Given the description of an element on the screen output the (x, y) to click on. 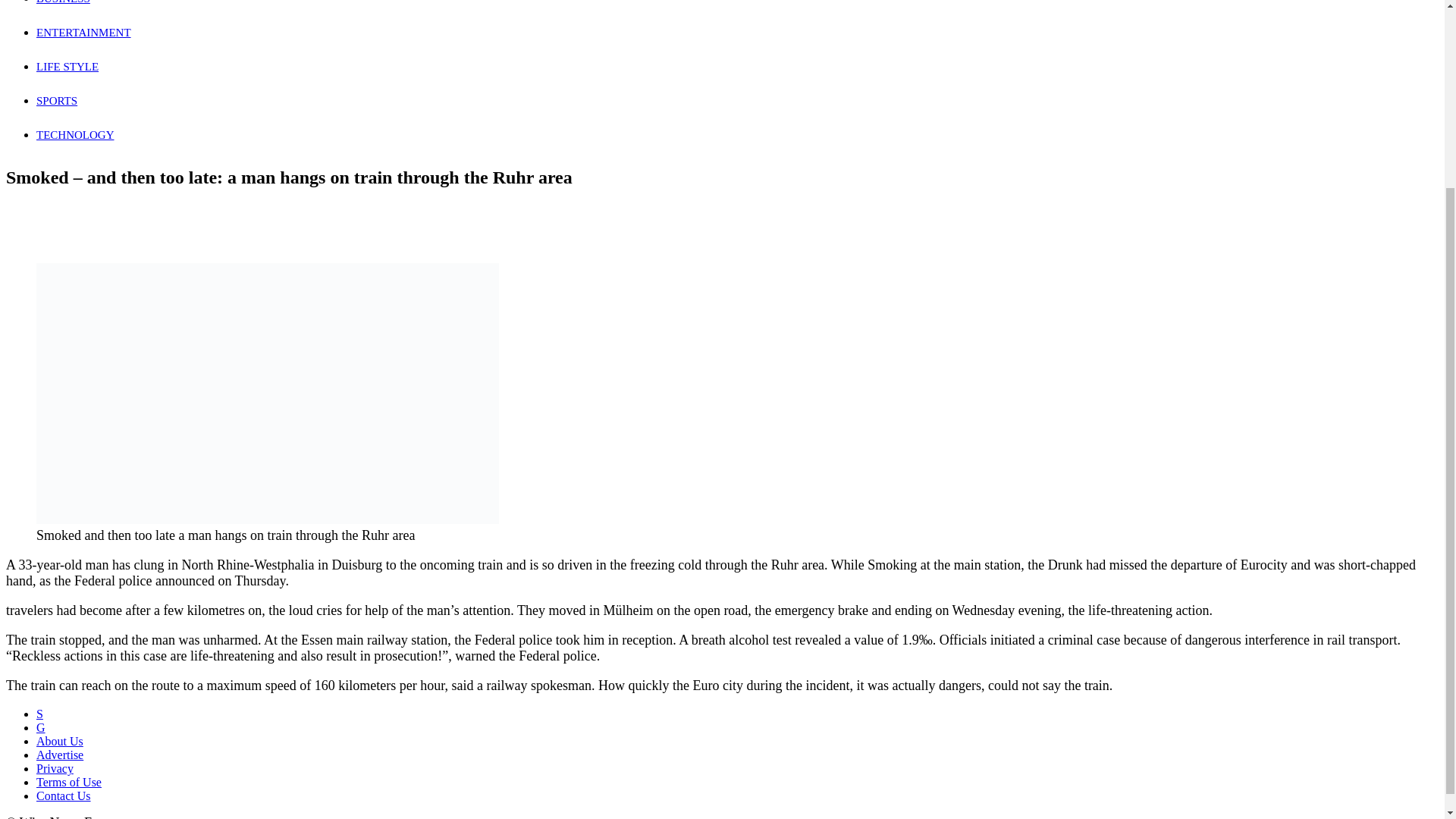
ENTERTAINMENT (83, 32)
Advertise (59, 754)
BUSINESS (63, 2)
Contact Us (63, 795)
Terms of Use (68, 781)
TECHNOLOGY (75, 134)
Privacy (55, 768)
SPORTS (56, 101)
LIFE STYLE (67, 66)
About Us (59, 740)
